Given the description of an element on the screen output the (x, y) to click on. 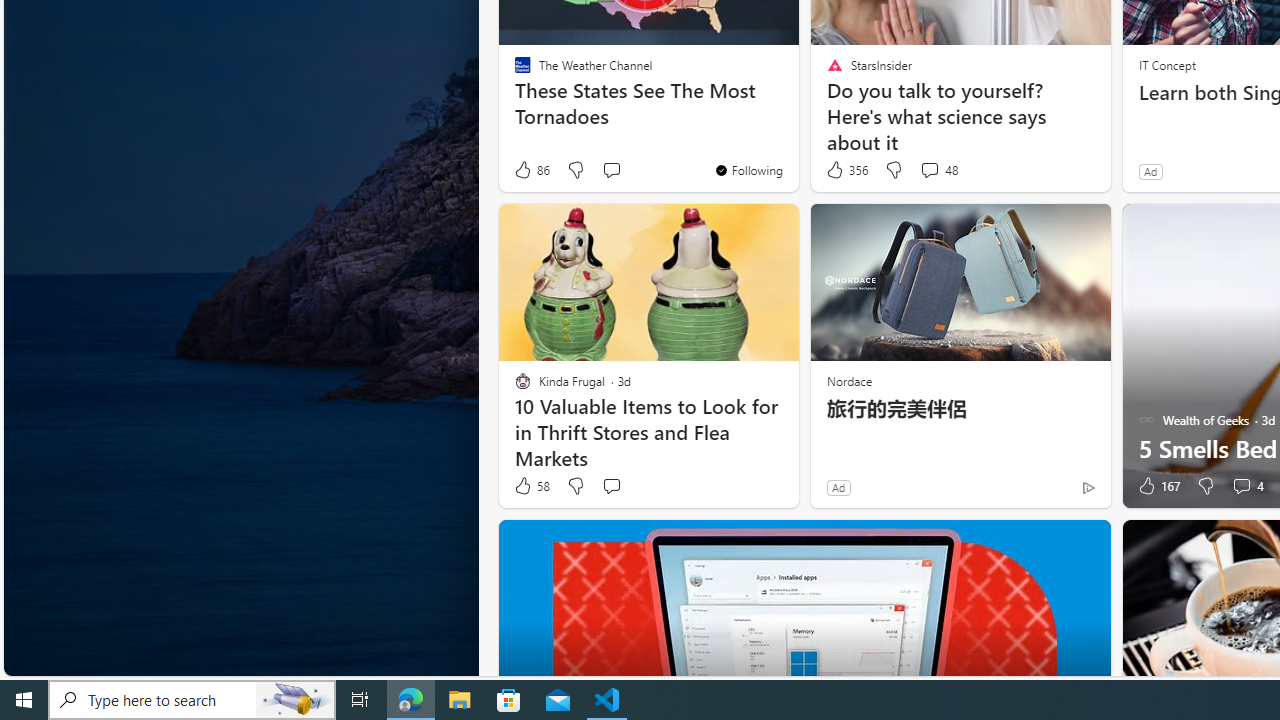
View comments 4 Comment (1247, 485)
86 Like (531, 170)
356 Like (845, 170)
